Given the description of an element on the screen output the (x, y) to click on. 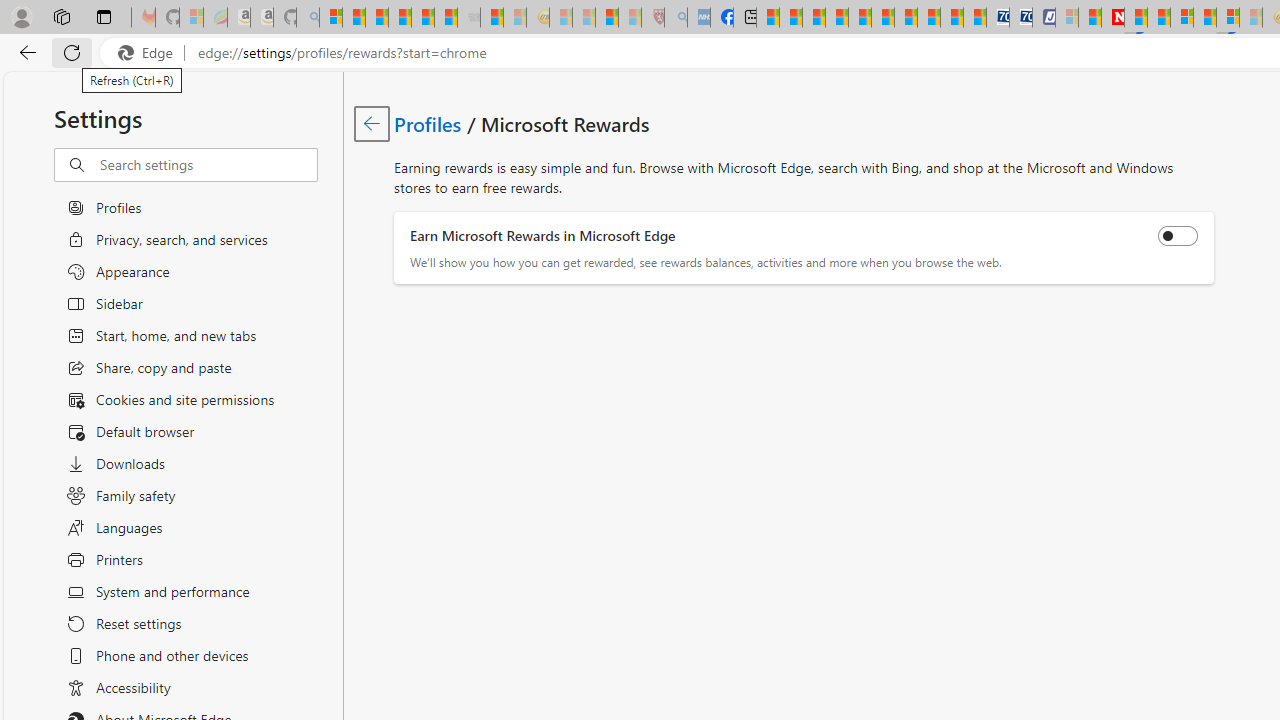
New Report Confirms 2023 Was Record Hot | Watch (422, 17)
Cheap Hotels - Save70.com (1020, 17)
Profiles (429, 123)
